Given the description of an element on the screen output the (x, y) to click on. 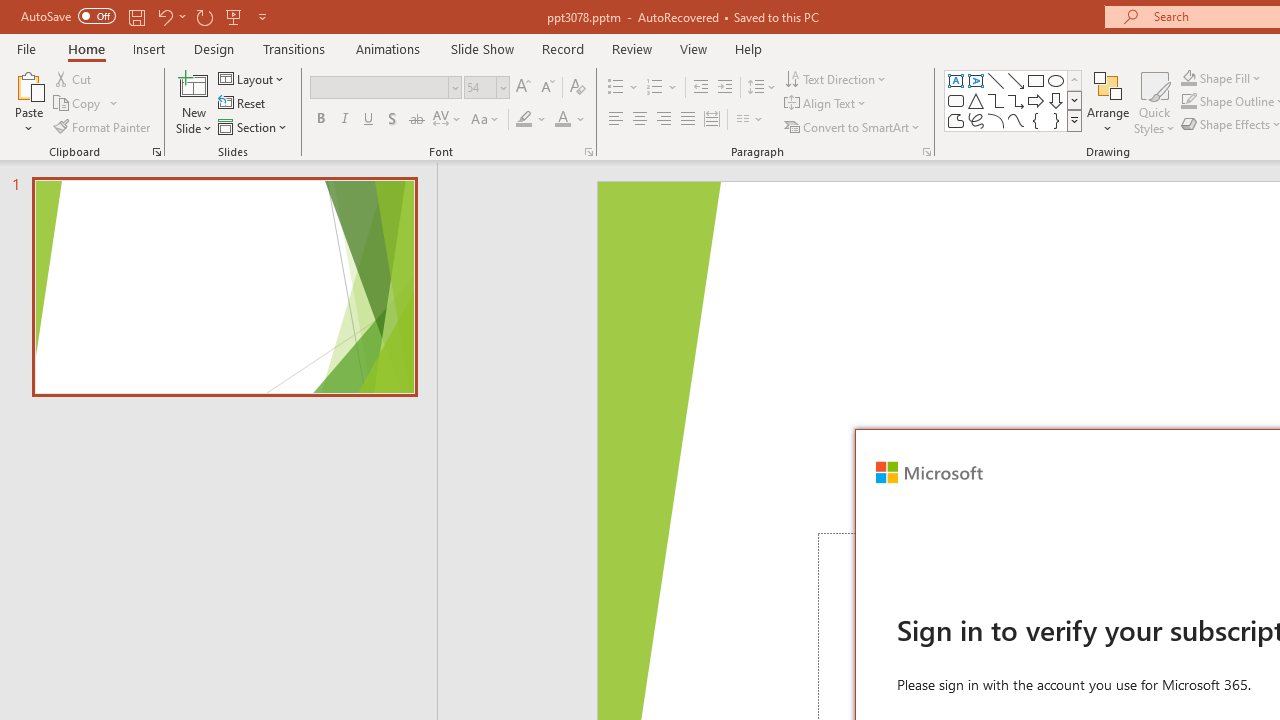
Strikethrough (416, 119)
Align Left (616, 119)
Text Direction (836, 78)
Columns (750, 119)
Increase Indent (725, 87)
